Given the description of an element on the screen output the (x, y) to click on. 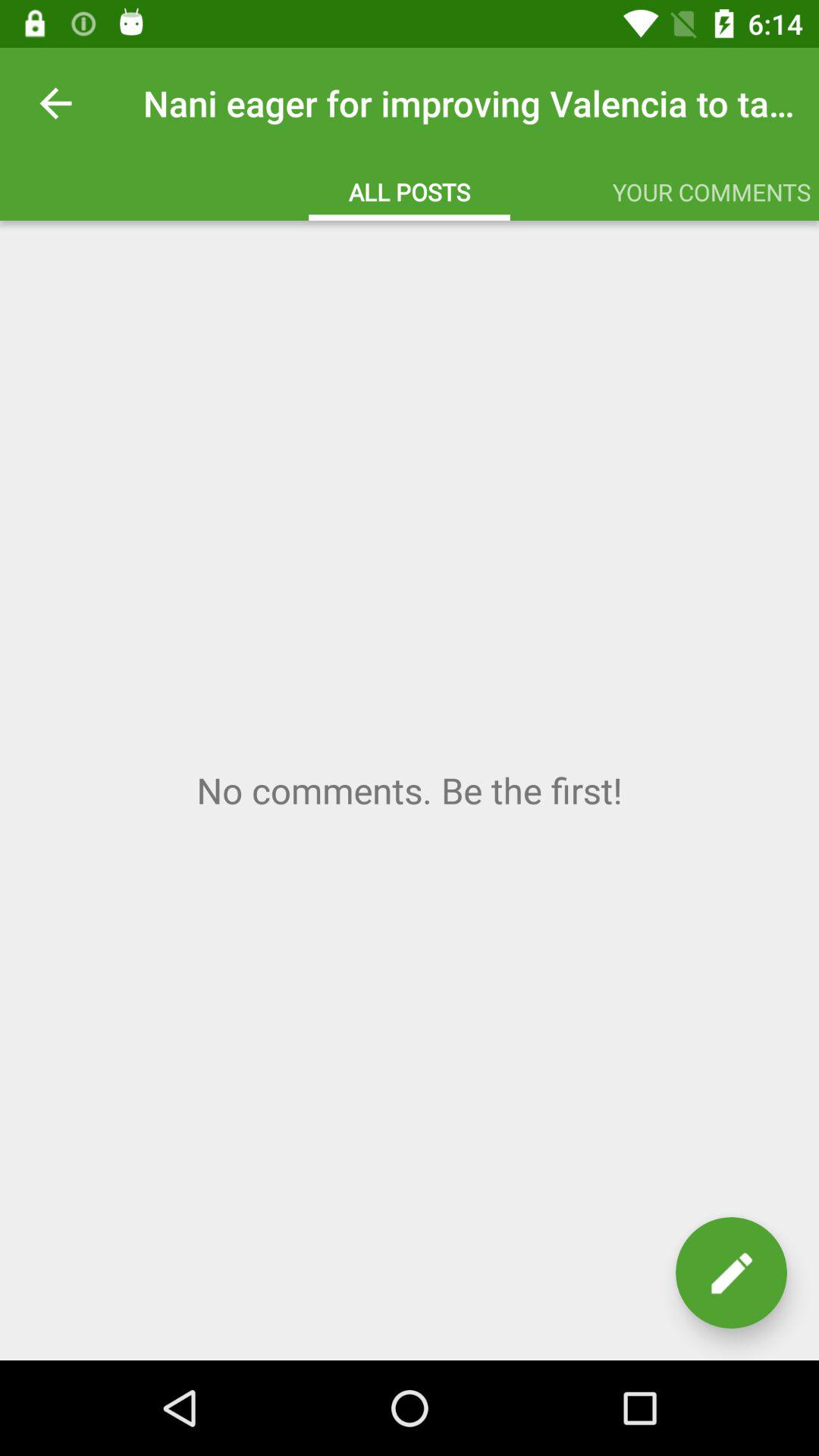
add comment (731, 1272)
